Given the description of an element on the screen output the (x, y) to click on. 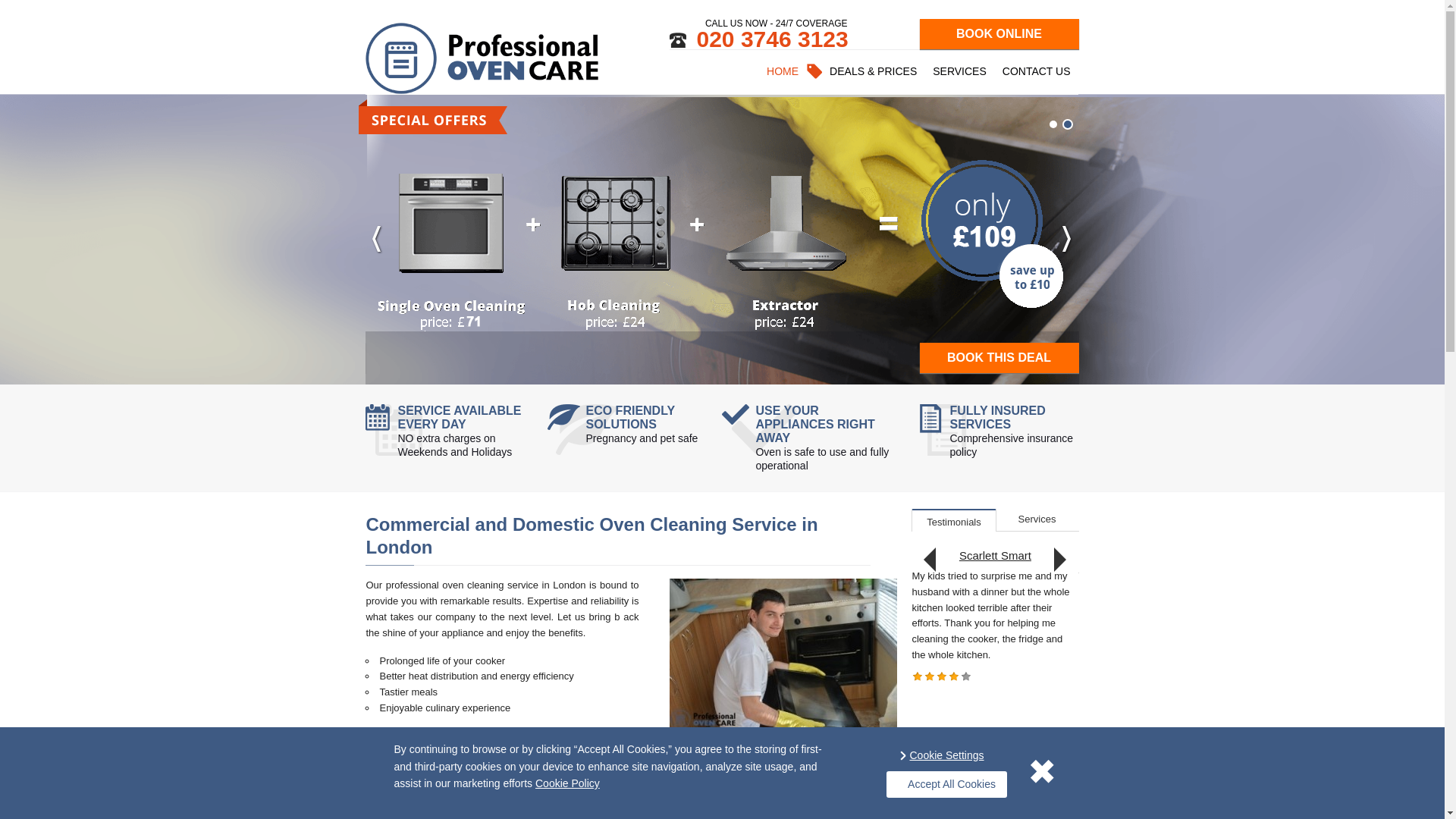
BOOK THIS DEAL (999, 358)
Services (1036, 517)
Services (960, 70)
BOOK THIS DEAL (285, 358)
Next (1059, 559)
Testimonials (953, 519)
Professional Oven Care (481, 58)
Contact Professional Oven Care (1036, 70)
BOOK THIS DEAL (999, 358)
Prev (376, 238)
SERVICES (960, 70)
 020 3746 3123 (757, 37)
HOME (782, 70)
CONTACT US (1036, 70)
Book Online (999, 33)
